Given the description of an element on the screen output the (x, y) to click on. 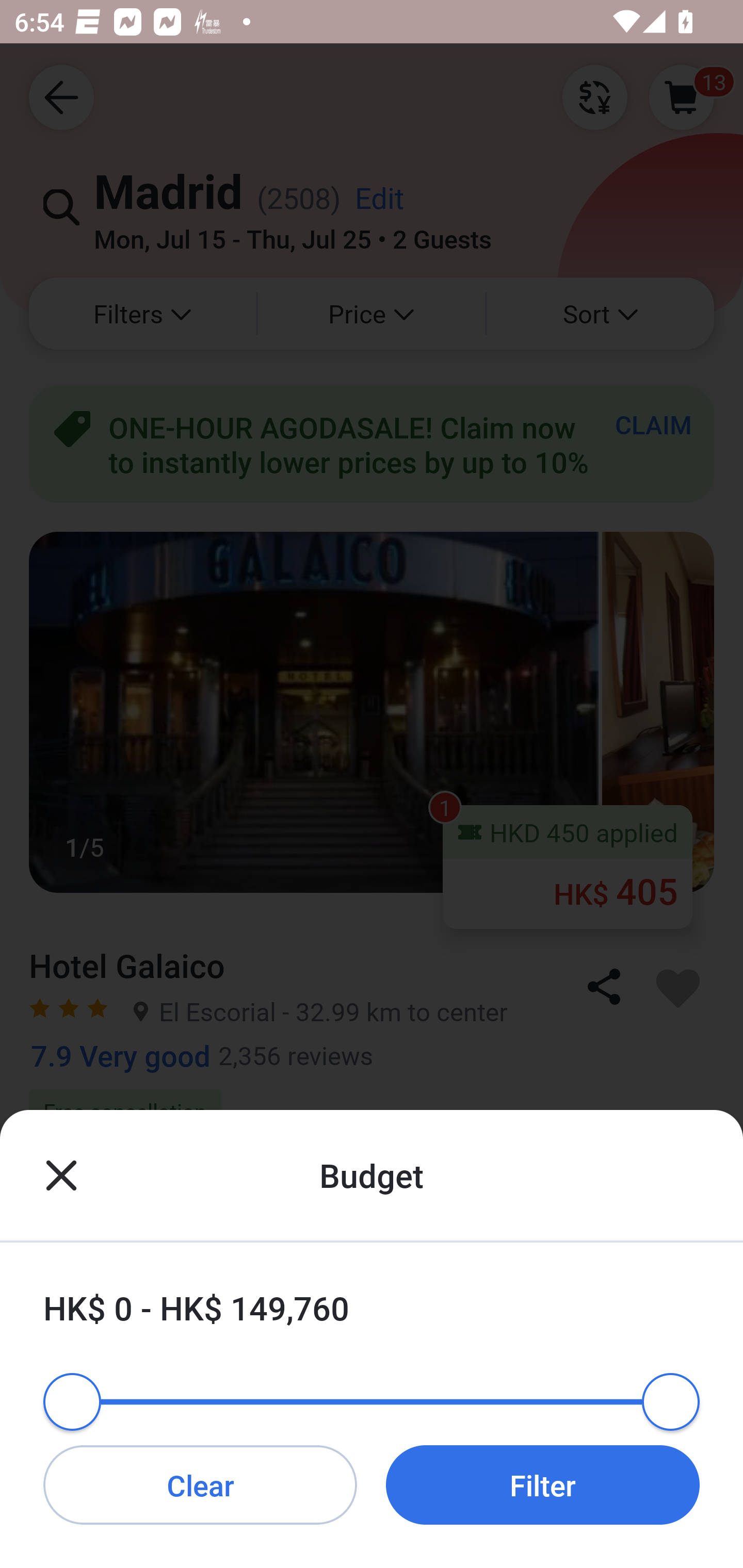
Clear (200, 1484)
Filter (542, 1484)
